Given the description of an element on the screen output the (x, y) to click on. 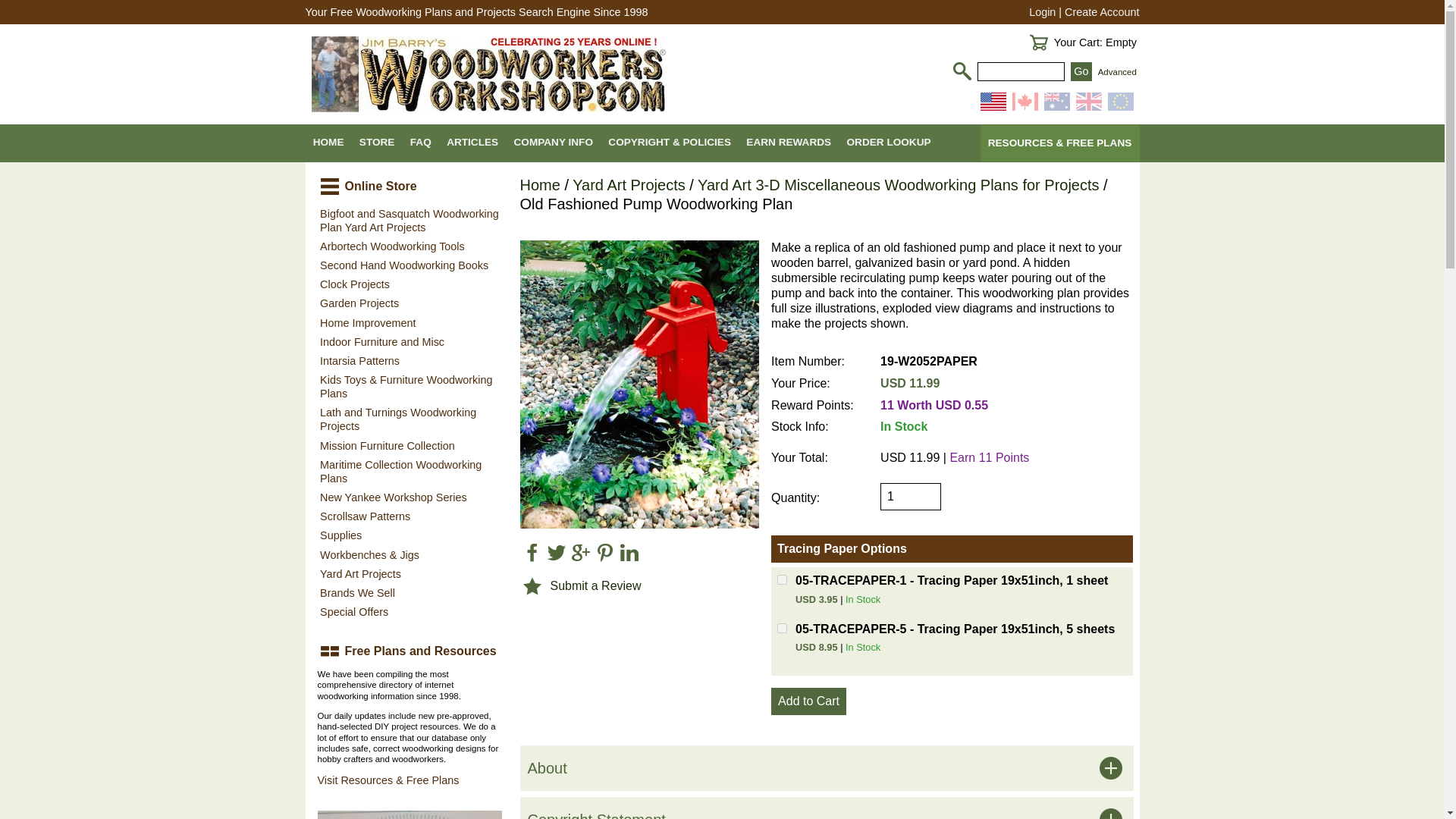
Garden Projects (408, 303)
Yard Art Projects (408, 573)
Intarsia Patterns (408, 360)
Submit a Review (596, 585)
Add to Cart (808, 700)
Bigfoot and Sasquatch Woodworking Plan Yard Art Projects (408, 219)
Arbortech Woodworking Tools (408, 245)
Clock Projects (408, 284)
Special Offers (408, 610)
Home Improvement (408, 322)
Home (539, 184)
Maritime Collection Woodworking Plans (408, 471)
Indoor Furniture and Misc (408, 341)
Mission Furniture Collection (408, 445)
Indoor Furniture and Misc (408, 341)
